Given the description of an element on the screen output the (x, y) to click on. 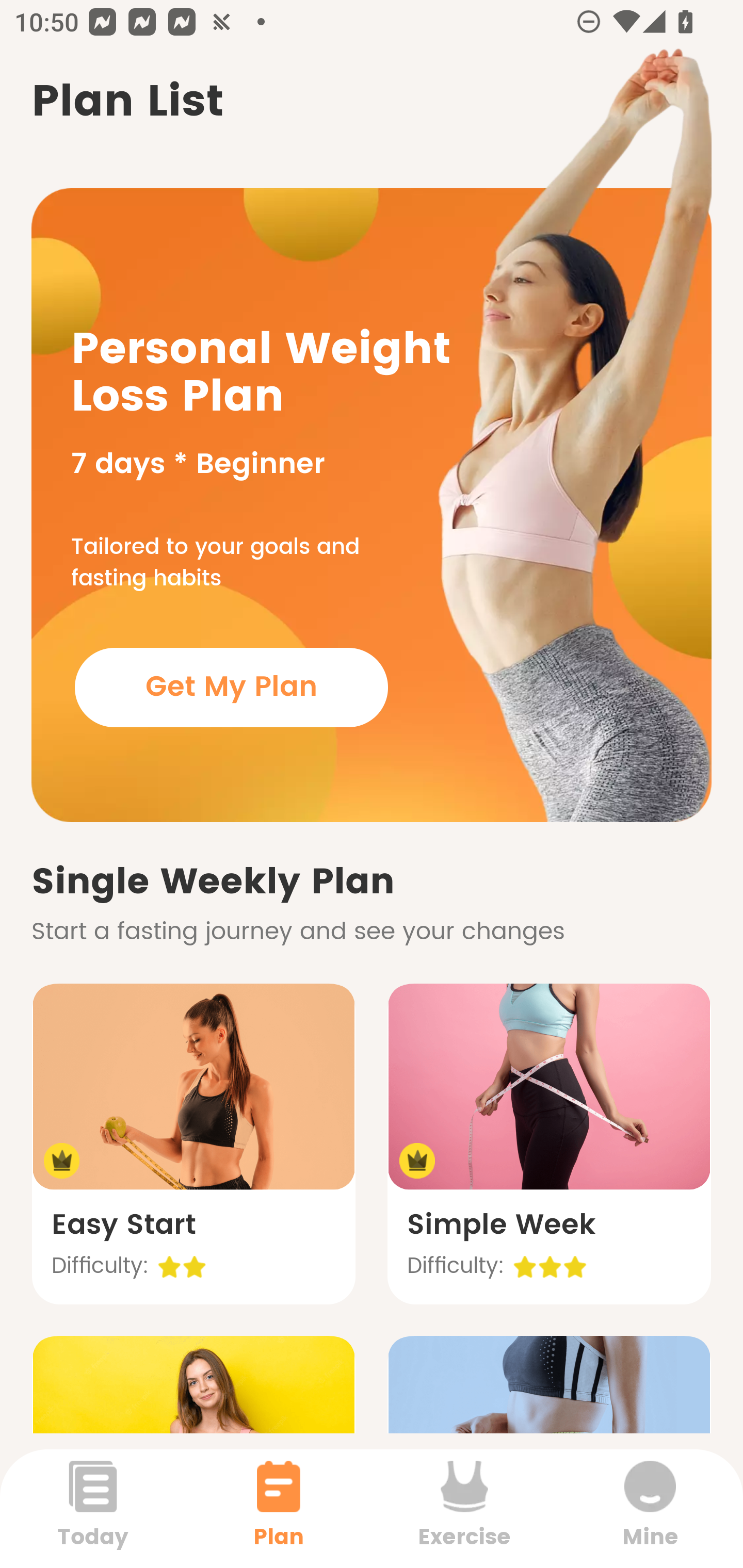
Get My Plan (231, 687)
Easy Start Difficulty: 2.0 (193, 1143)
Simple Week Difficulty: 3.0 (549, 1143)
Today (92, 1508)
Exercise (464, 1508)
Mine (650, 1508)
